Given the description of an element on the screen output the (x, y) to click on. 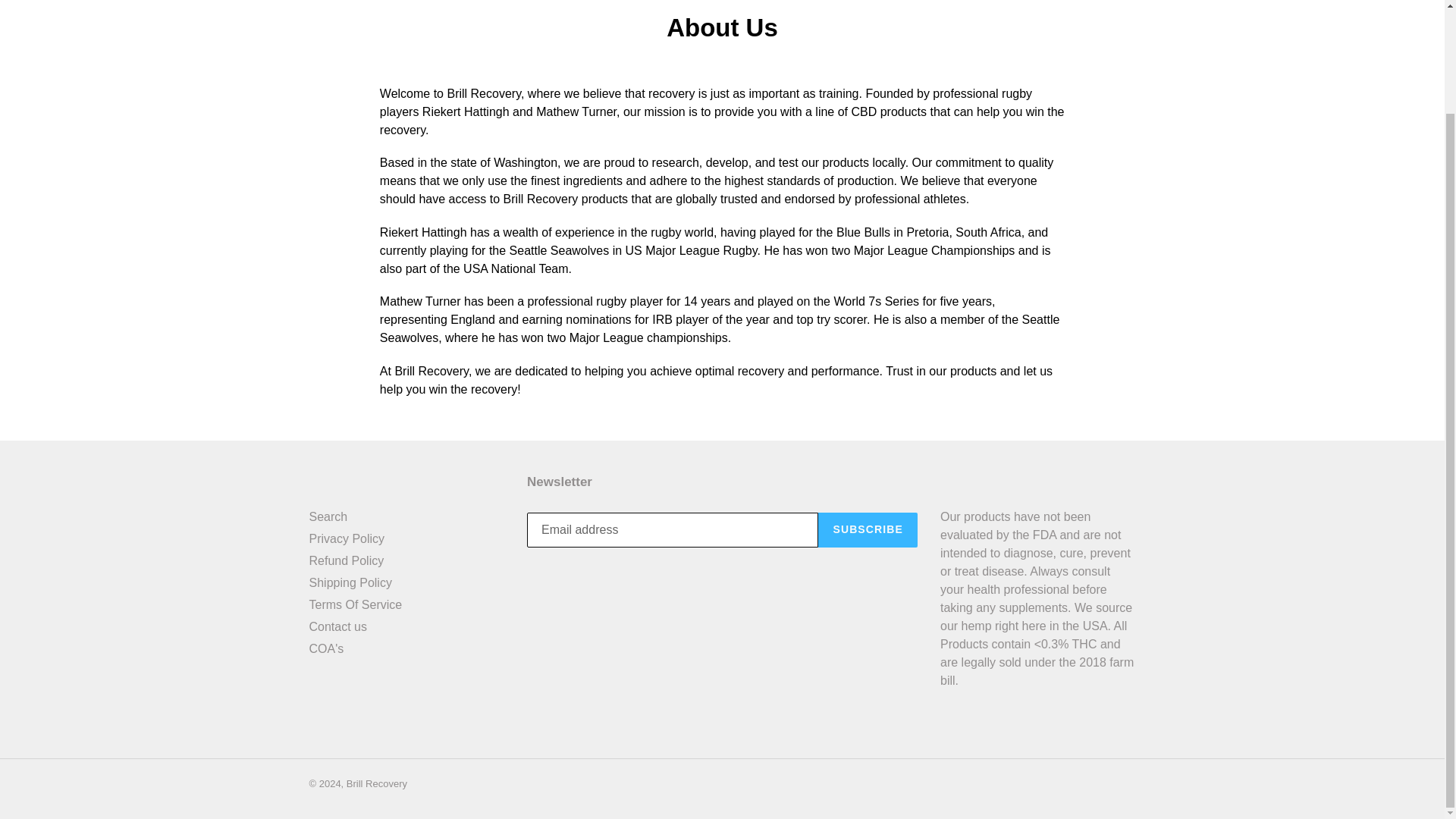
Contact us (337, 626)
Search (327, 516)
Refund Policy (346, 560)
COA's (325, 648)
Shipping Policy (349, 582)
Terms Of Service (355, 604)
Privacy Policy (346, 538)
SUBSCRIBE (867, 529)
Brill Recovery (376, 783)
